Given the description of an element on the screen output the (x, y) to click on. 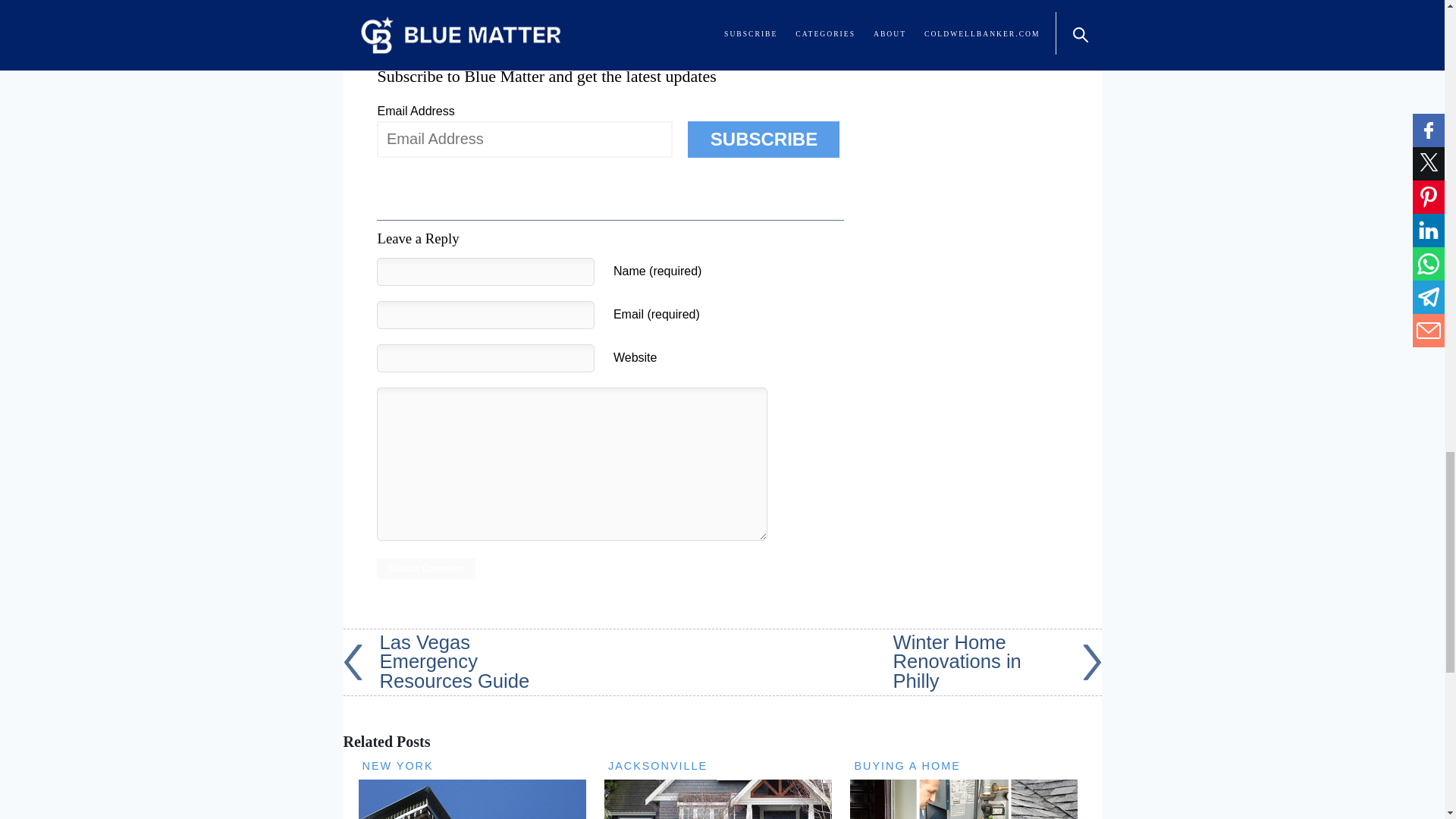
NEW YORK (397, 766)
Winter Home Renovations in Philly (997, 662)
Submit Comment (425, 568)
Winter Home Renovations in Philly (997, 662)
SUBSCRIBE (763, 139)
Submit Comment (425, 568)
Las Vegas Emergency Resources Guide (446, 662)
Las Vegas Emergency Resources Guide (446, 662)
JACKSONVILLE (657, 766)
